Given the description of an element on the screen output the (x, y) to click on. 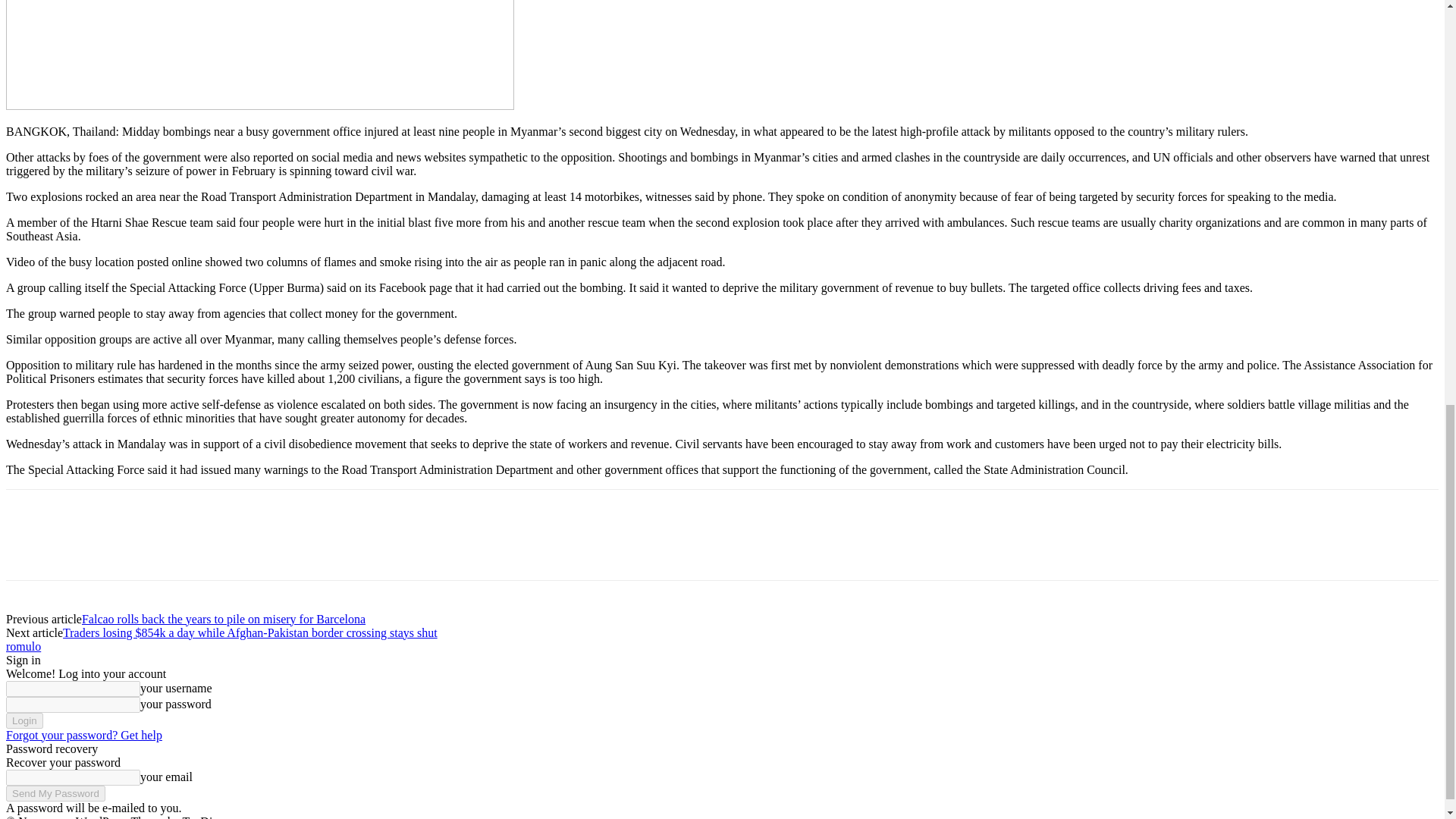
Send My Password (54, 793)
Falcao rolls back the years to pile on misery for Barcelona (223, 618)
Bombing in Myanmar city highlights escalating violence (259, 54)
Login (24, 720)
